Given the description of an element on the screen output the (x, y) to click on. 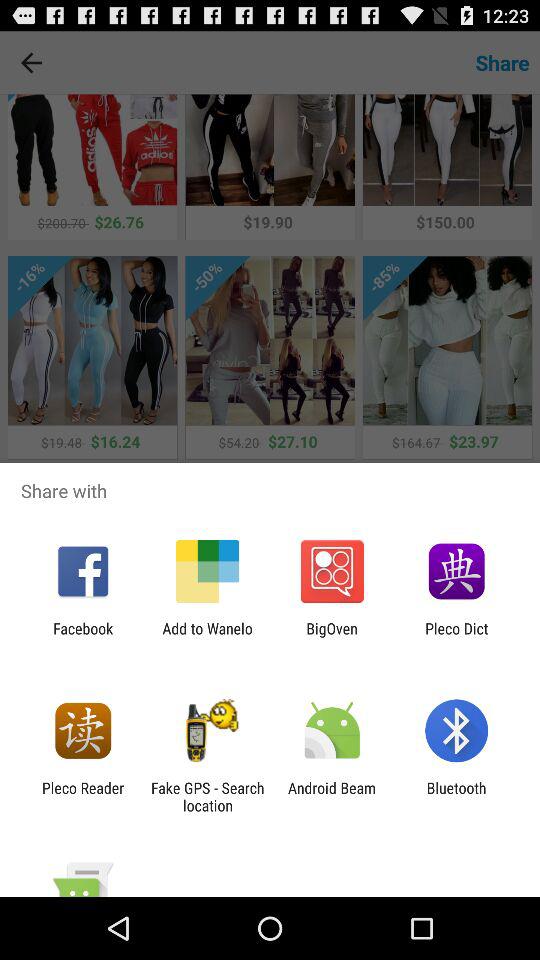
jump until fake gps search item (207, 796)
